Given the description of an element on the screen output the (x, y) to click on. 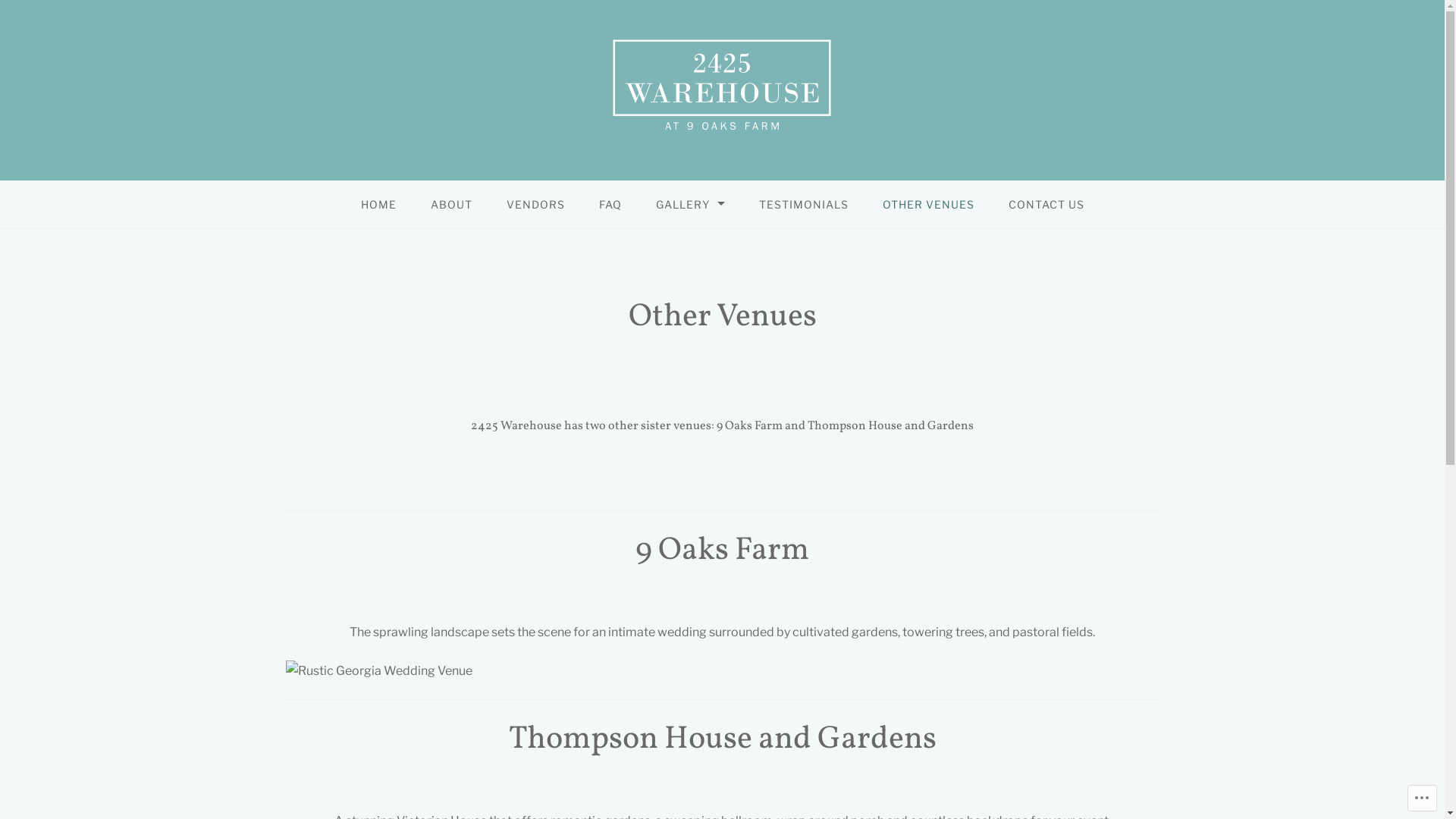
OTHER VENUES Element type: text (927, 204)
GALLERY Element type: text (690, 204)
2425 Warehouse Element type: text (165, 182)
ABOUT Element type: text (450, 204)
CONTACT US Element type: text (1045, 204)
HOME Element type: text (377, 204)
VENDORS Element type: text (534, 204)
FAQ Element type: text (609, 204)
TESTIMONIALS Element type: text (803, 204)
